Given the description of an element on the screen output the (x, y) to click on. 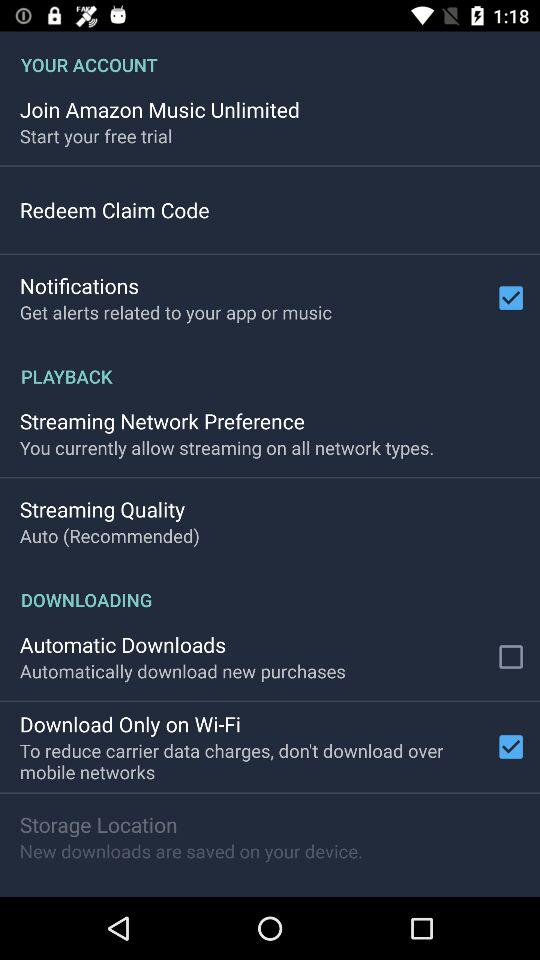
flip until the start your free icon (95, 135)
